Given the description of an element on the screen output the (x, y) to click on. 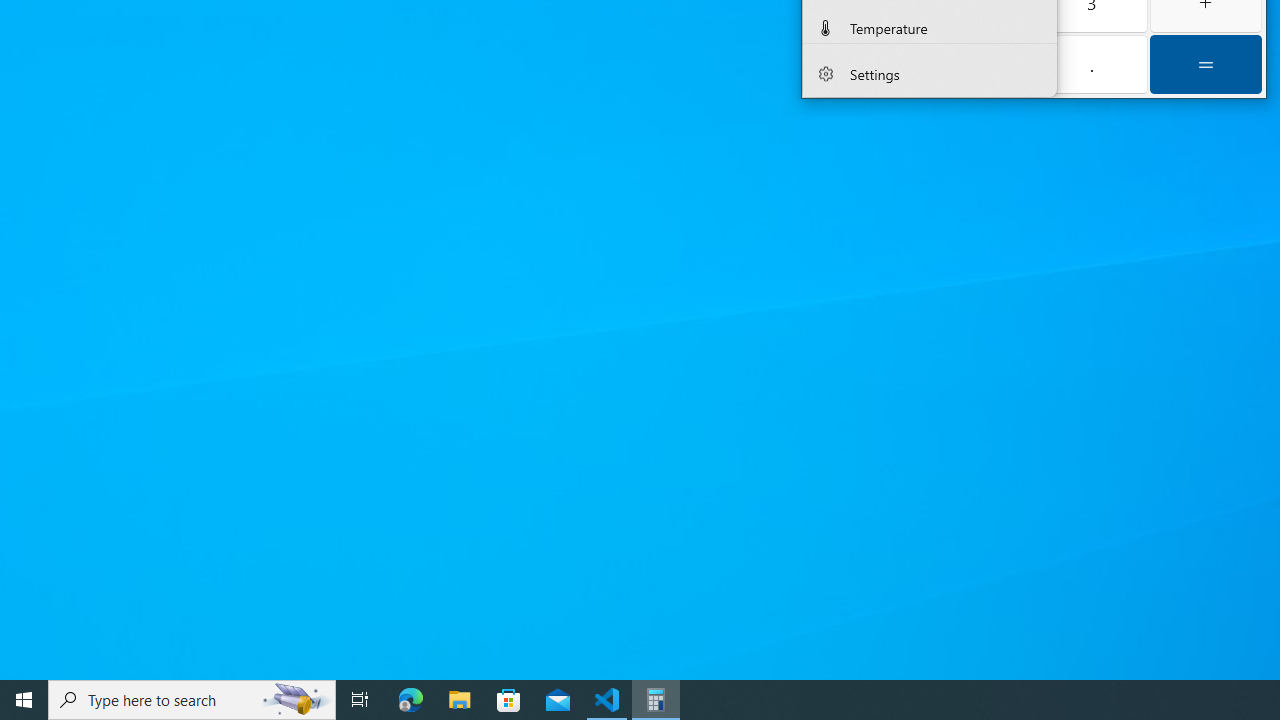
Temperature Converter (929, 25)
